Given the description of an element on the screen output the (x, y) to click on. 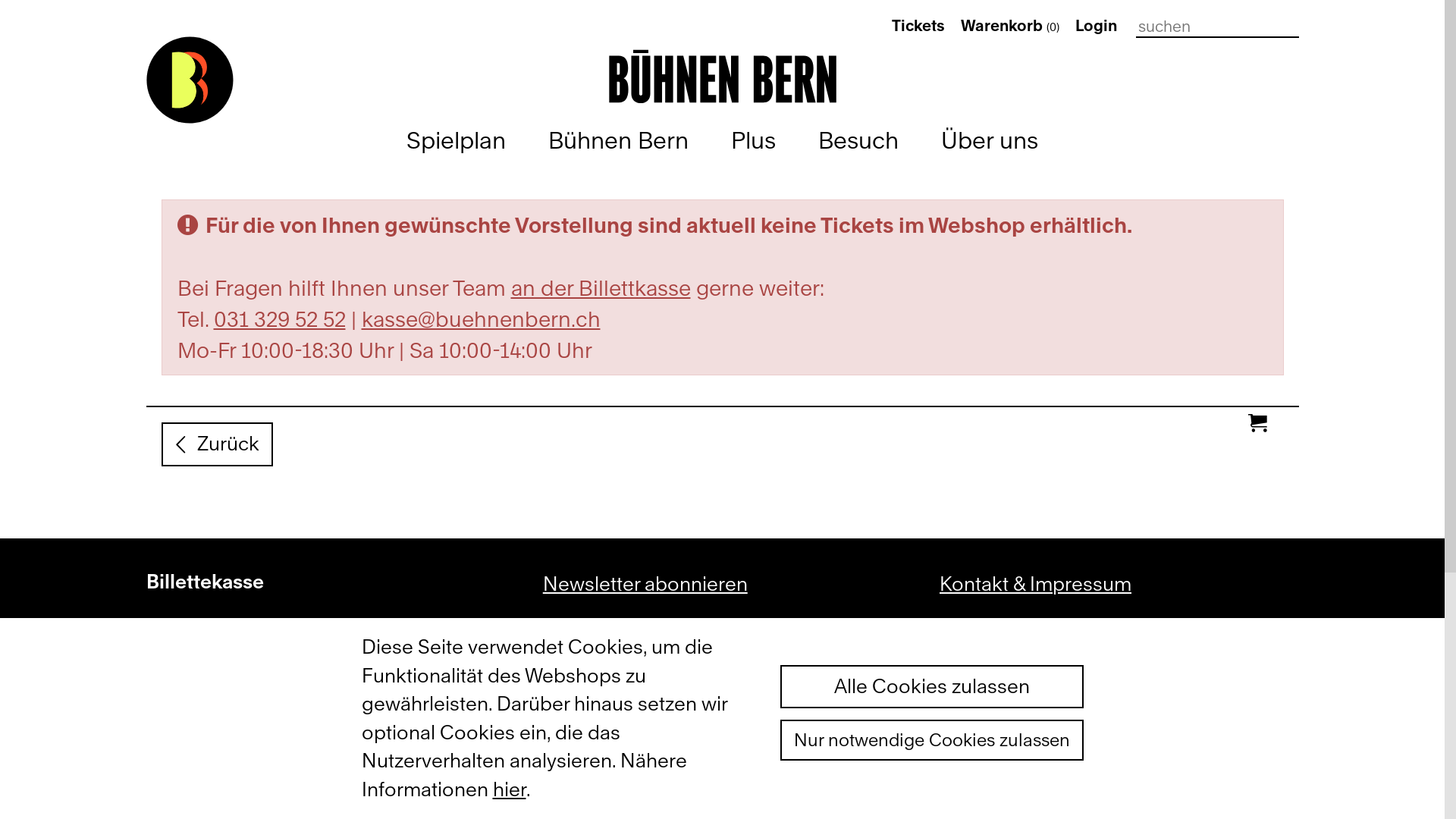
Tickets Element type: text (917, 25)
Besuch Element type: text (858, 140)
Spielplan Element type: text (455, 140)
hier Element type: text (509, 789)
Weiter zum Warenkorb Element type: text (30, 21)
kasse@buehnenbern.ch Element type: text (479, 318)
Intranet Element type: text (973, 757)
Newsletter abonnieren Element type: text (644, 583)
- Element type: text (17, 21)
Nur notwendige Cookies zulassen Element type: text (930, 739)
Kontakt & Impressum Element type: text (1035, 583)
kasse@buehnenbern.ch Element type: text (253, 741)
031 329 52 52 Element type: text (279, 318)
Login Element type: text (1096, 25)
Plus Element type: text (753, 140)
Alle Cookies zulassen Element type: text (930, 687)
an der Billettkasse Element type: text (600, 286)
AGB Element type: text (959, 670)
Es werden nur technisch notwendige Cookies verwendet Element type: hover (930, 739)
Warenkorb(0) Element type: text (1009, 25)
Presse Element type: text (970, 626)
